Given the description of an element on the screen output the (x, y) to click on. 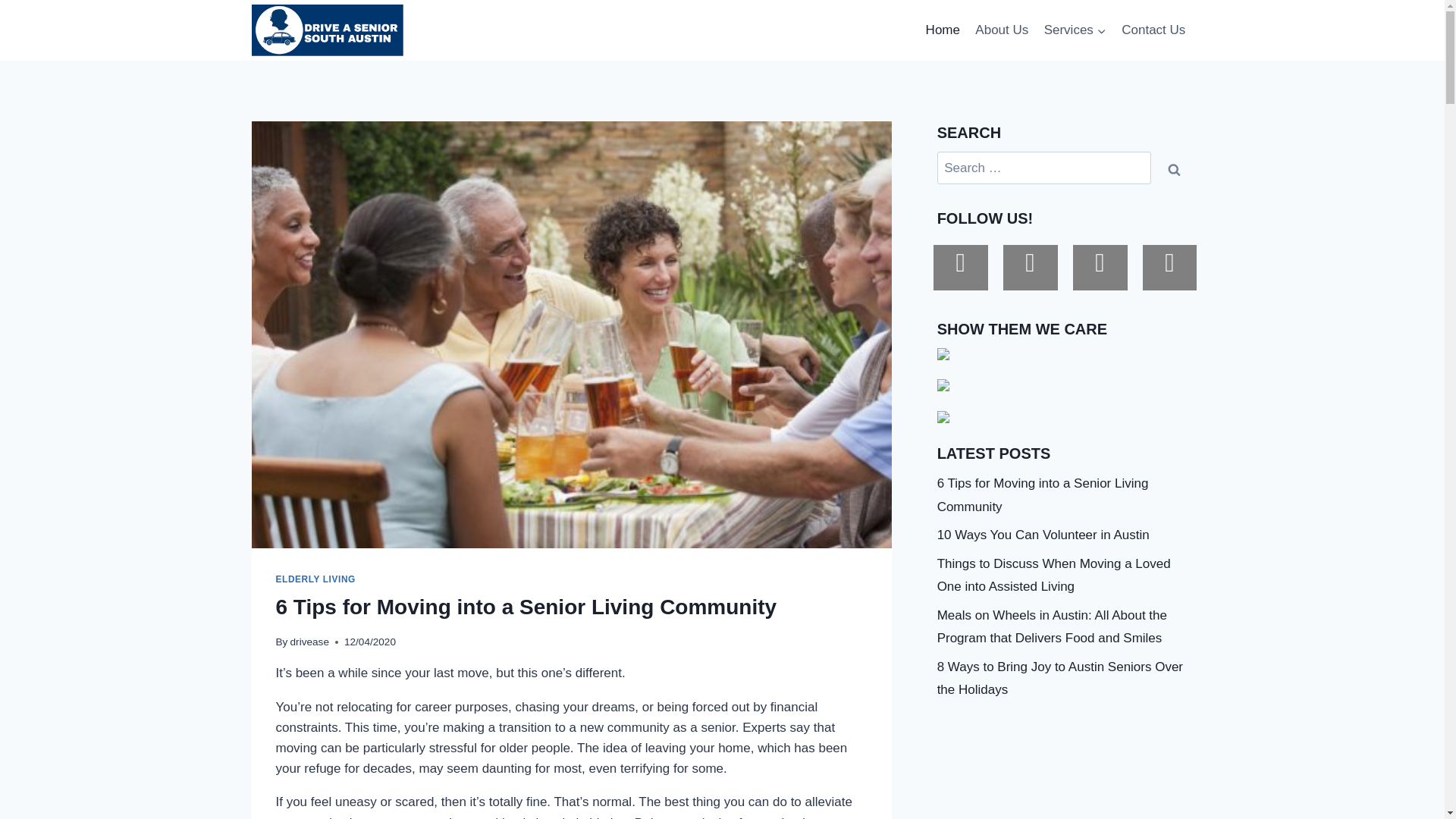
About Us (1001, 30)
drivease (309, 641)
Services (1074, 30)
6 Tips for Moving into a Senior Living Community (526, 607)
Search (1174, 169)
Search (1174, 169)
ELDERLY LIVING (315, 579)
Contact Us (1152, 30)
Home (942, 30)
